Given the description of an element on the screen output the (x, y) to click on. 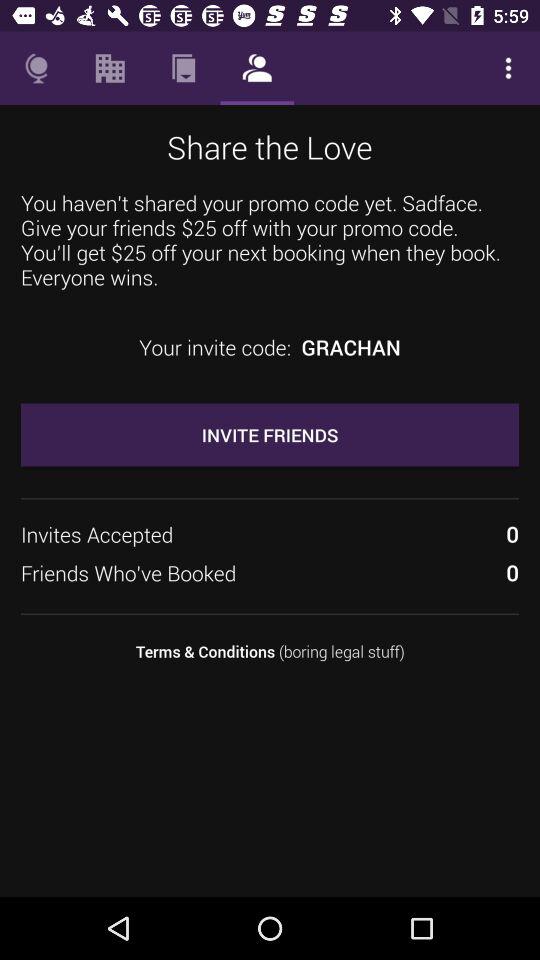
turn off the icon above you haven t item (109, 68)
